Given the description of an element on the screen output the (x, y) to click on. 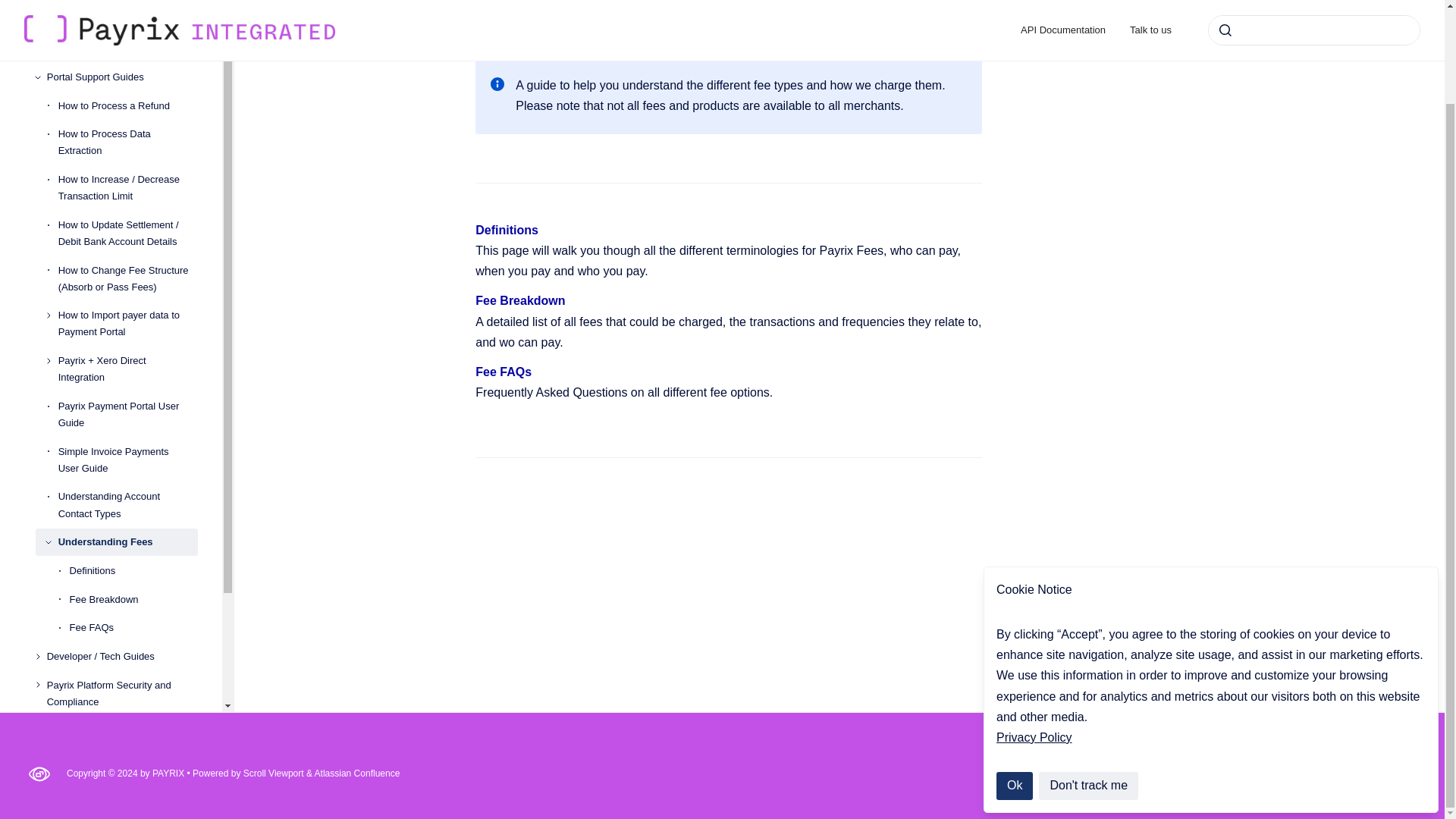
Risk and Compliance Guide (122, 48)
Implementation Guide (122, 20)
Privacy Policy (1033, 629)
FAQ (122, 730)
Payrix Platform Security and Compliance (122, 693)
How to Process a Refund (128, 105)
Understanding Fees (128, 542)
Payrix Payment Portal User Guide (128, 414)
How to Process Data Extraction (128, 142)
Simple Invoice Payments User Guide (128, 460)
